Given the description of an element on the screen output the (x, y) to click on. 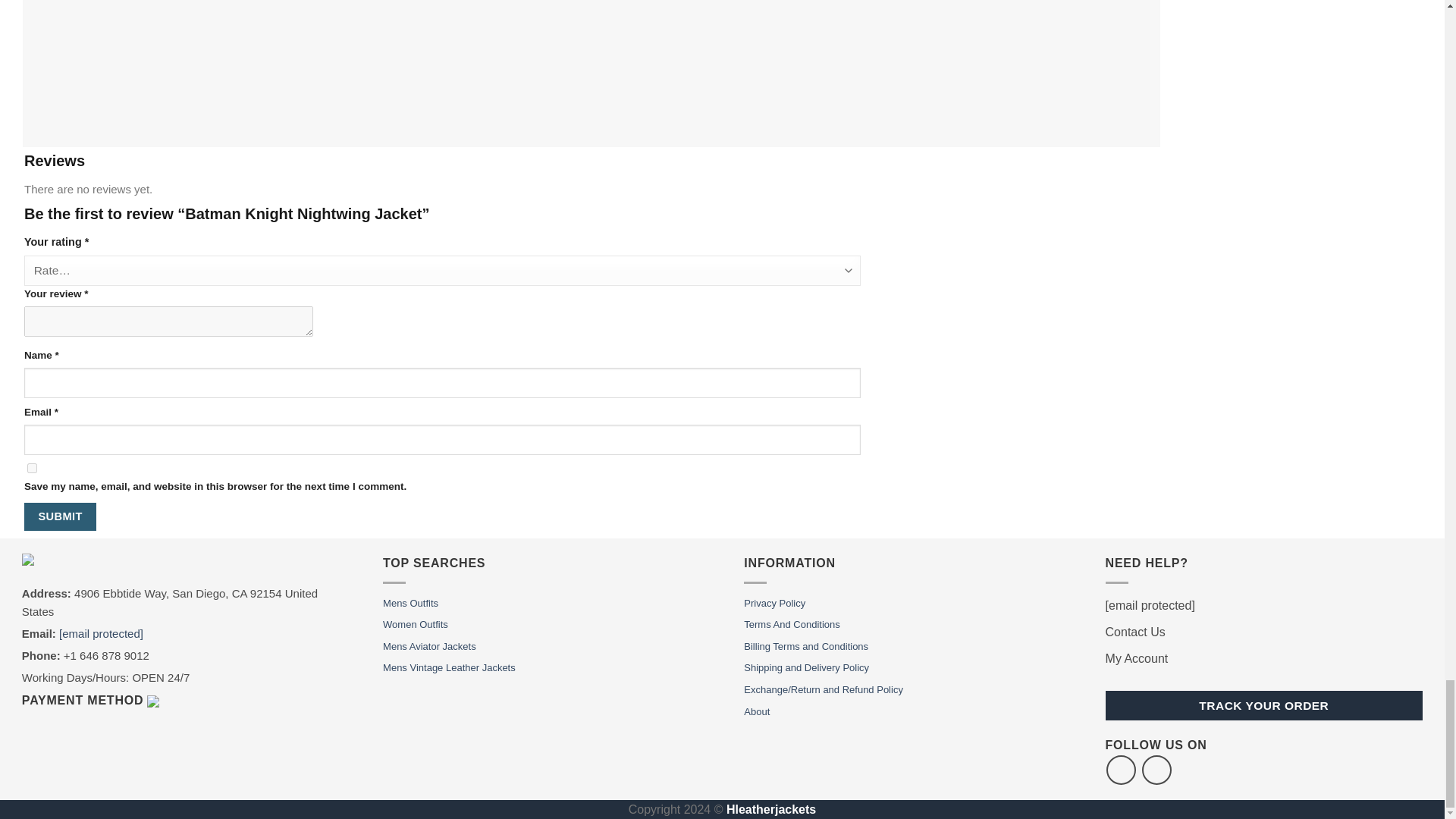
Submit (60, 516)
yes (32, 468)
